Given the description of an element on the screen output the (x, y) to click on. 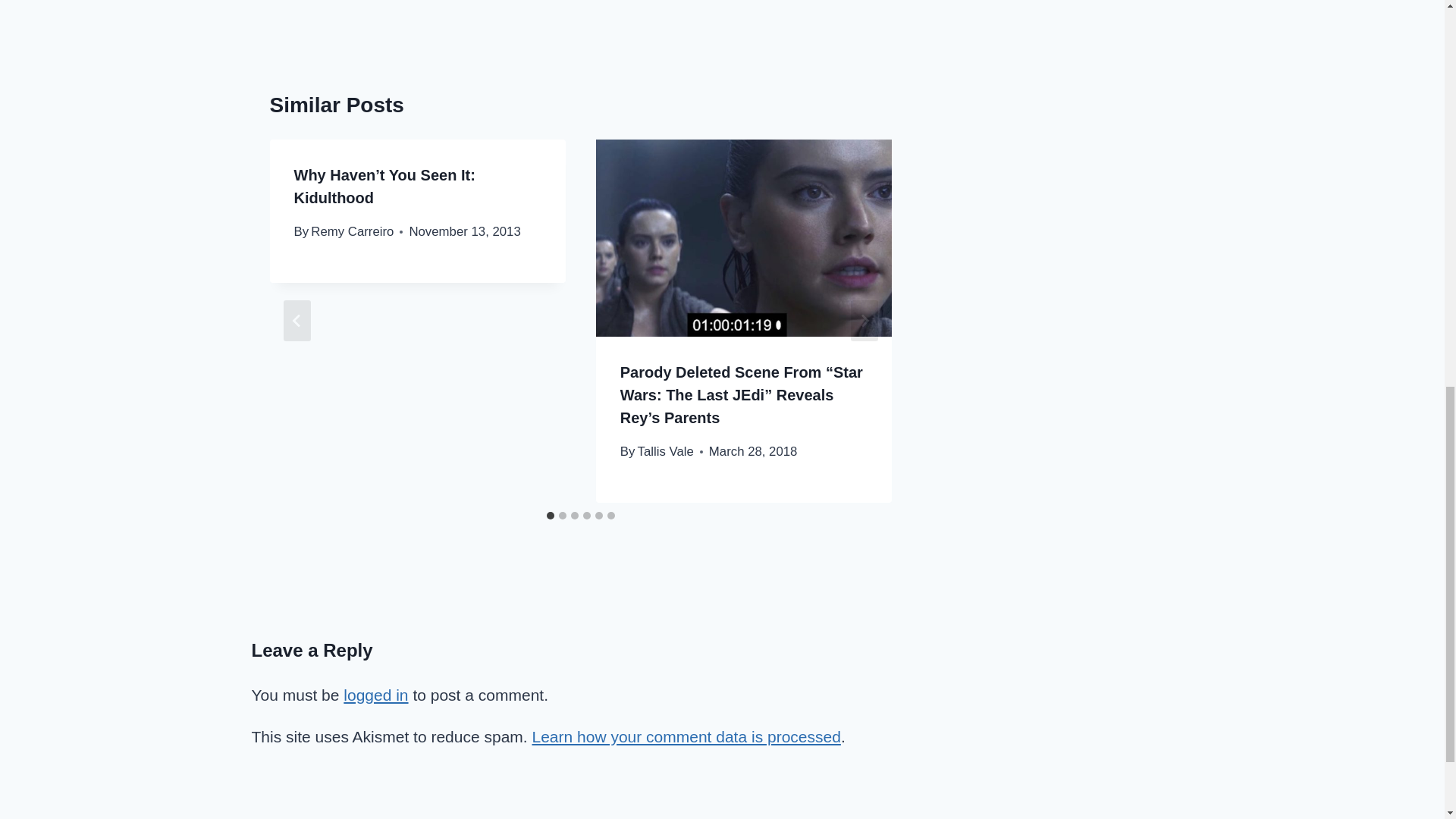
Remy Carreiro (352, 231)
Tallis Vale (665, 451)
